Given the description of an element on the screen output the (x, y) to click on. 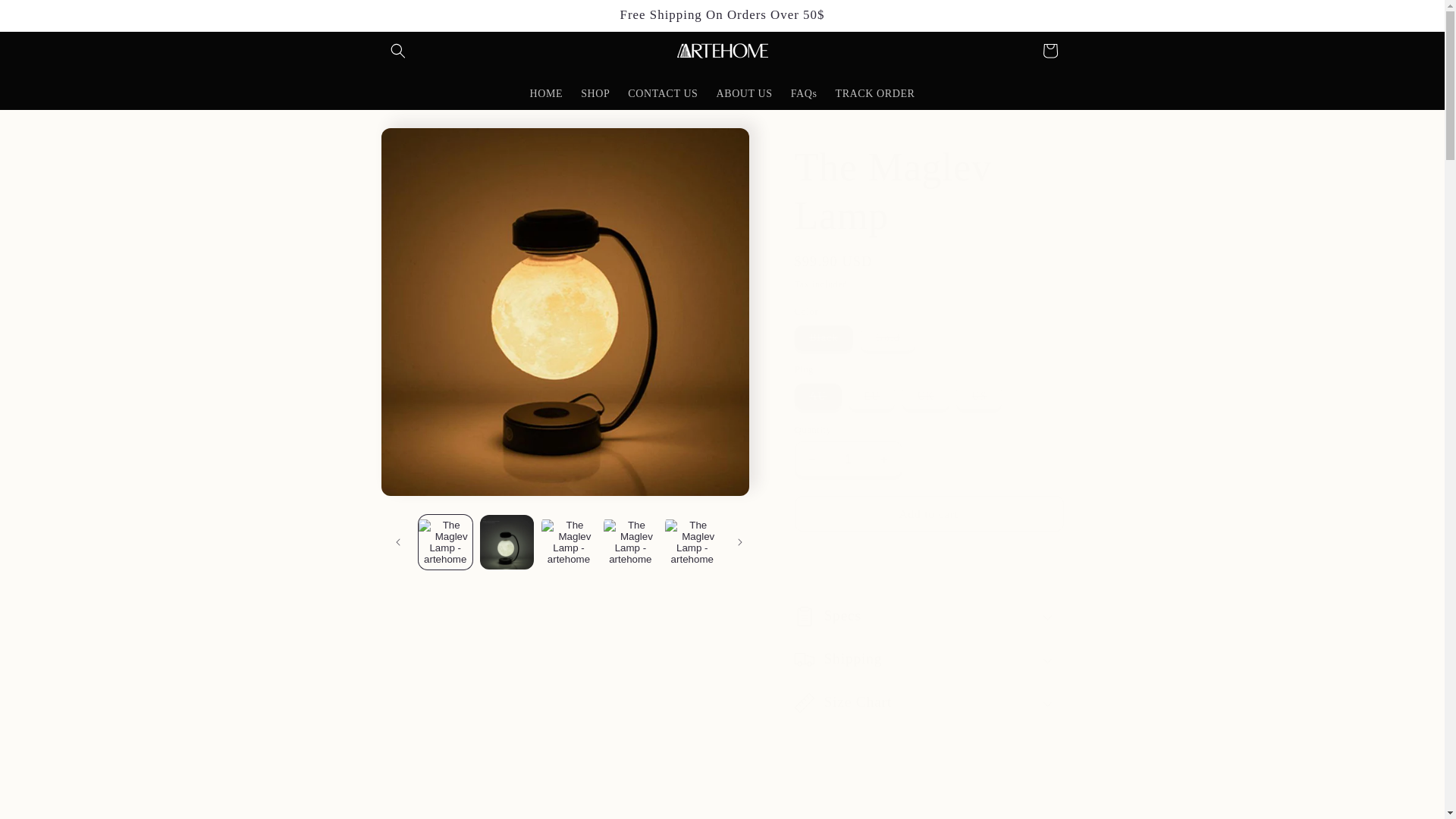
ABOUT US (743, 93)
TRACK ORDER (874, 93)
Skip to content (45, 17)
HOME (546, 93)
Cart (1048, 50)
1 (848, 458)
